Given the description of an element on the screen output the (x, y) to click on. 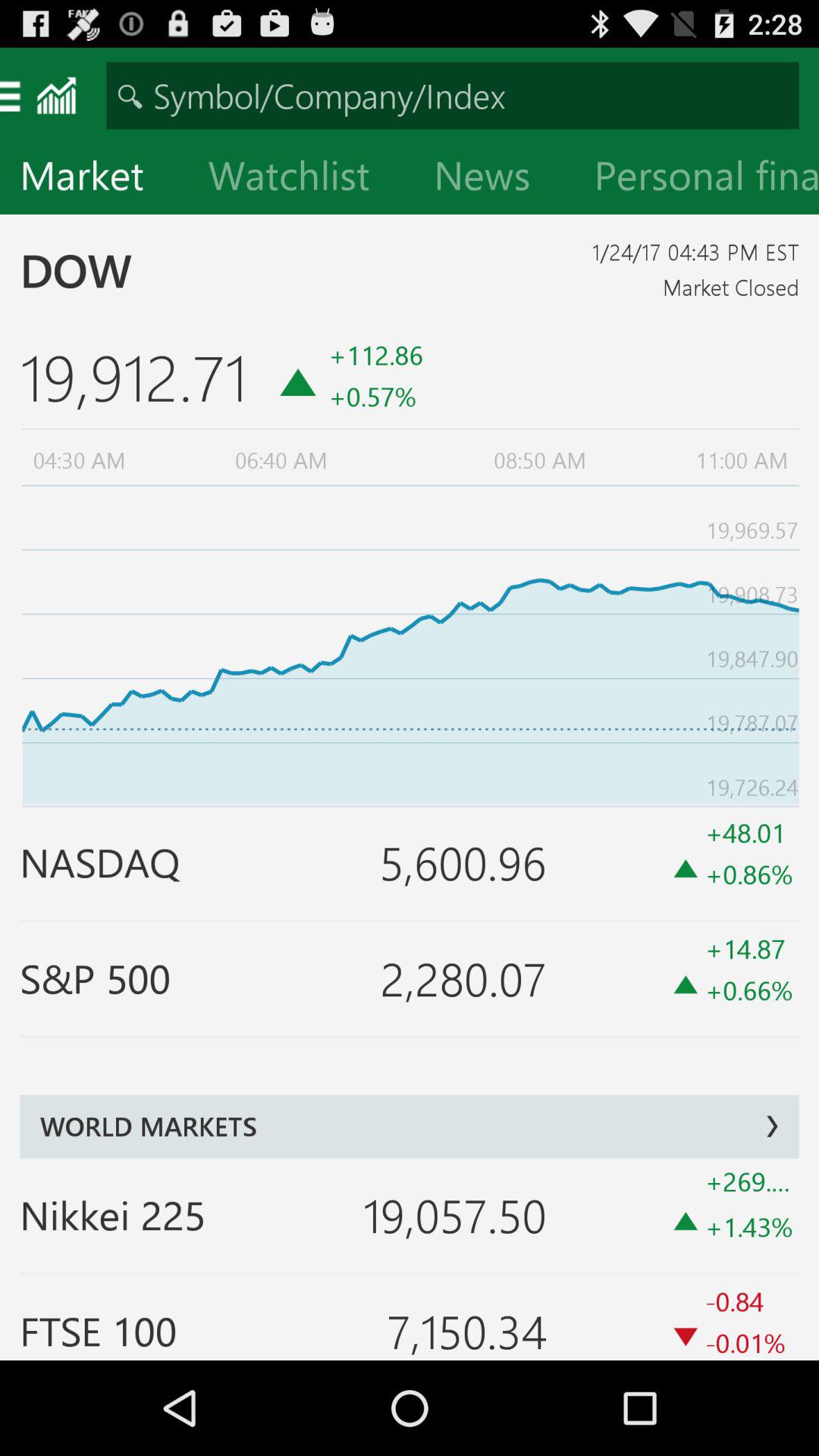
turn on the item above +112.86 (494, 178)
